Given the description of an element on the screen output the (x, y) to click on. 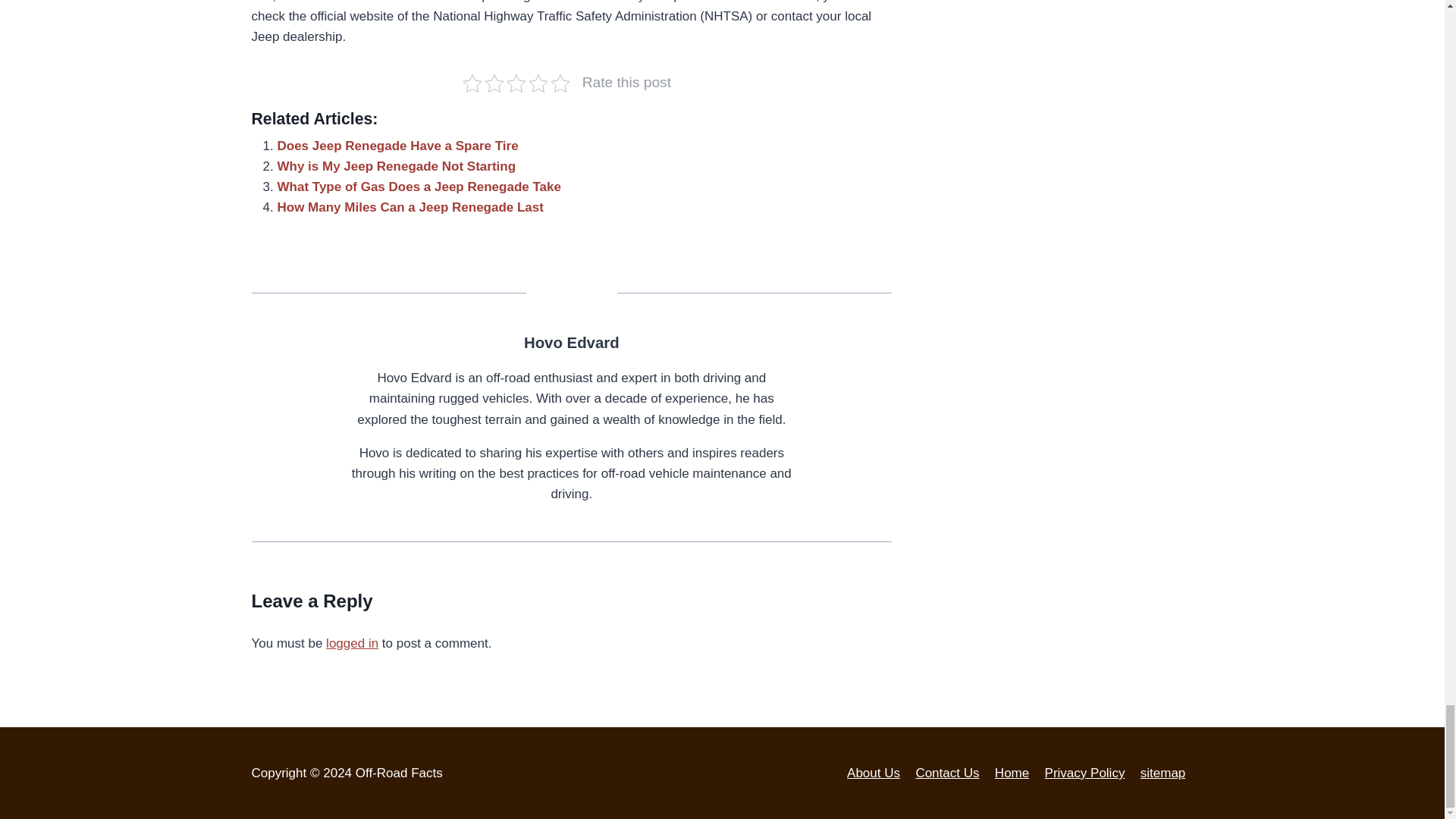
Why is My Jeep Renegade Not Starting (397, 165)
Does Jeep Renegade Have a Spare Tire (398, 145)
